Given the description of an element on the screen output the (x, y) to click on. 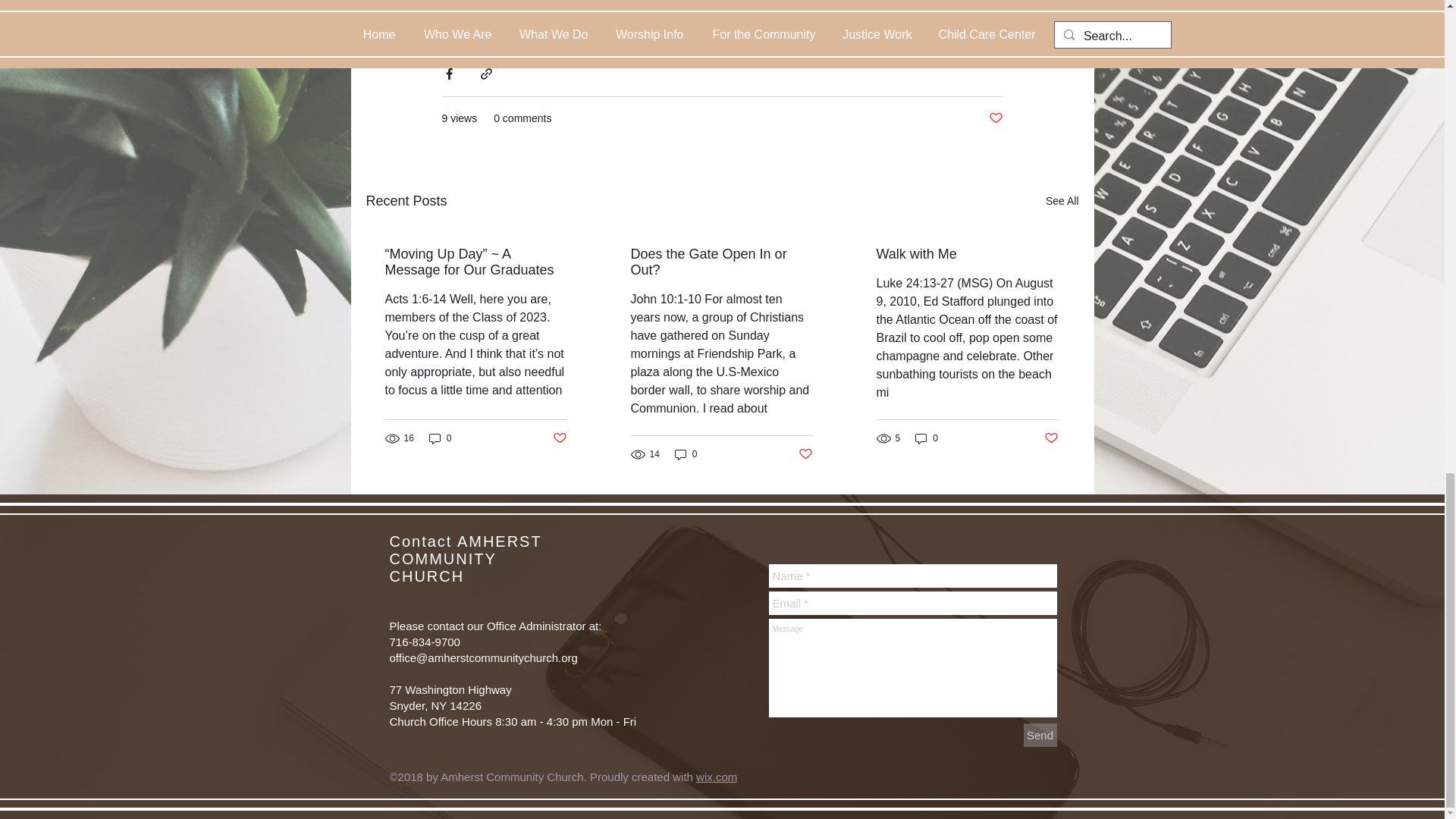
Walk with Me (967, 254)
0 (440, 438)
Post not marked as liked (1050, 437)
See All (1061, 201)
0 (926, 438)
Does the Gate Open In or Out? (721, 262)
Post not marked as liked (558, 437)
0 (685, 453)
Post not marked as liked (995, 118)
Post not marked as liked (804, 454)
